Given the description of an element on the screen output the (x, y) to click on. 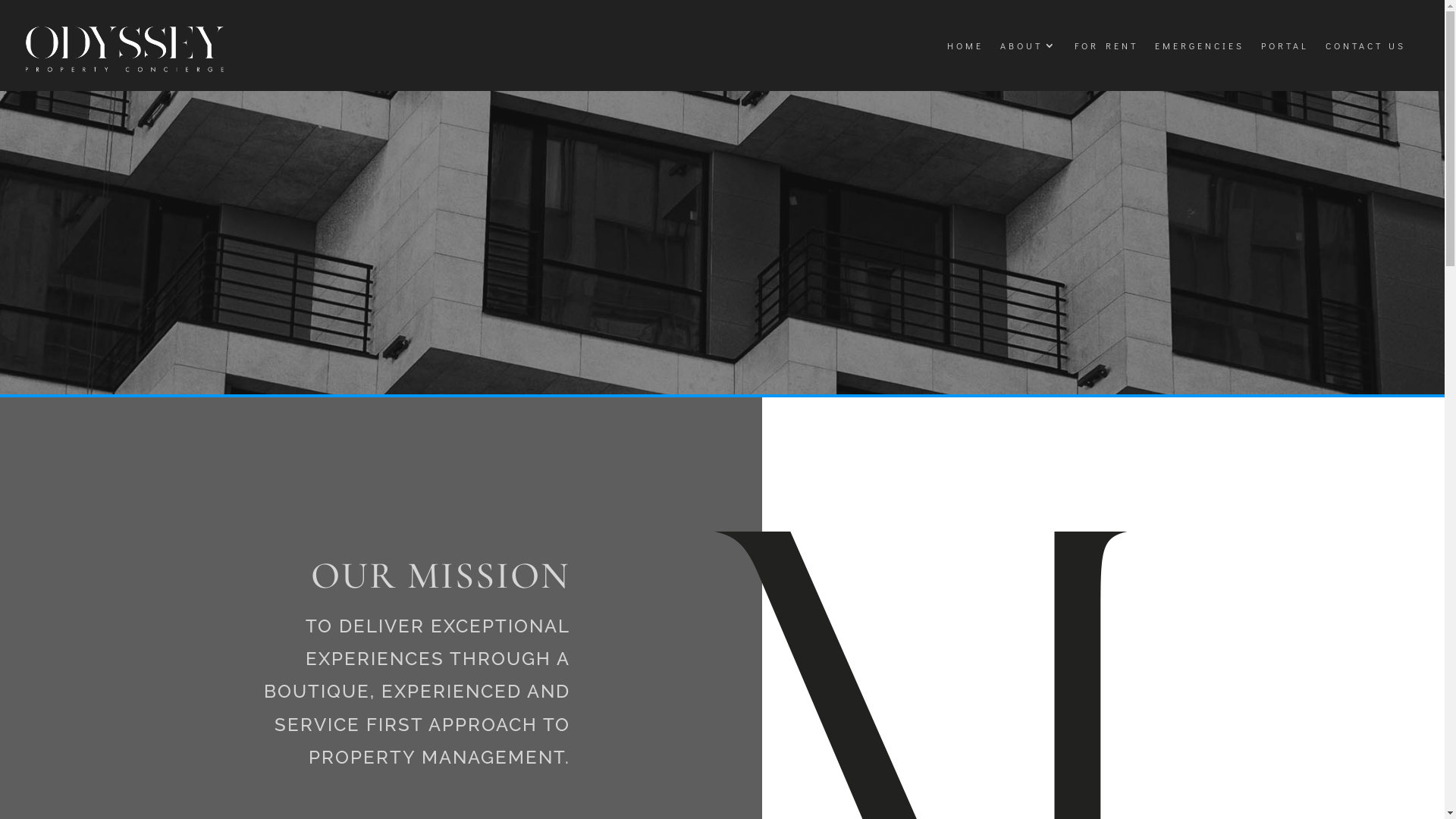
FOR RENT Element type: text (1106, 45)
EMERGENCIES Element type: text (1199, 45)
ABOUT Element type: text (1028, 45)
HOME Element type: text (965, 45)
PORTAL Element type: text (1284, 45)
CONTACT US Element type: text (1365, 45)
